Given the description of an element on the screen output the (x, y) to click on. 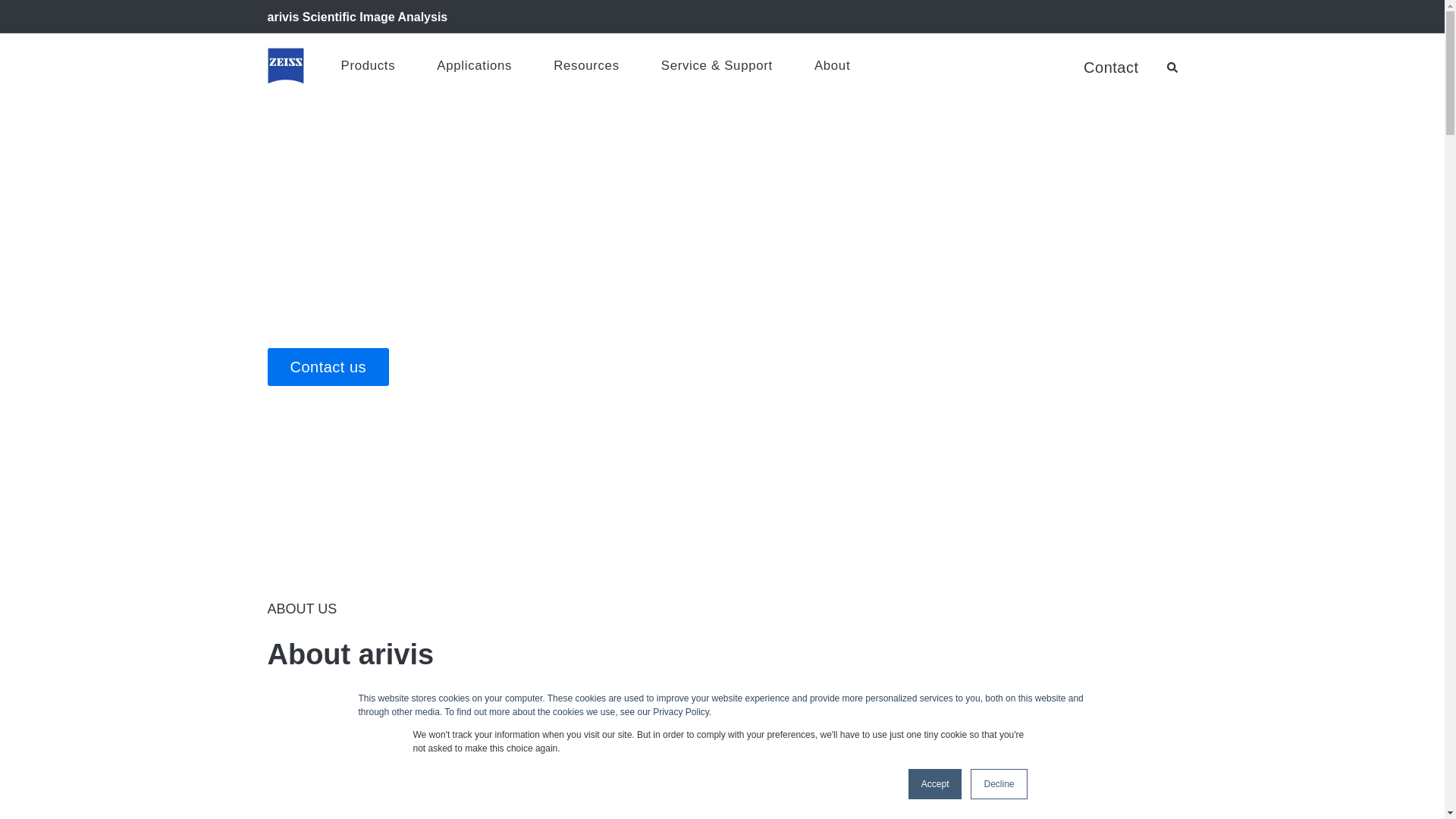
Contact us (327, 366)
Accept (935, 784)
Decline (998, 784)
Contact (1110, 67)
